Given the description of an element on the screen output the (x, y) to click on. 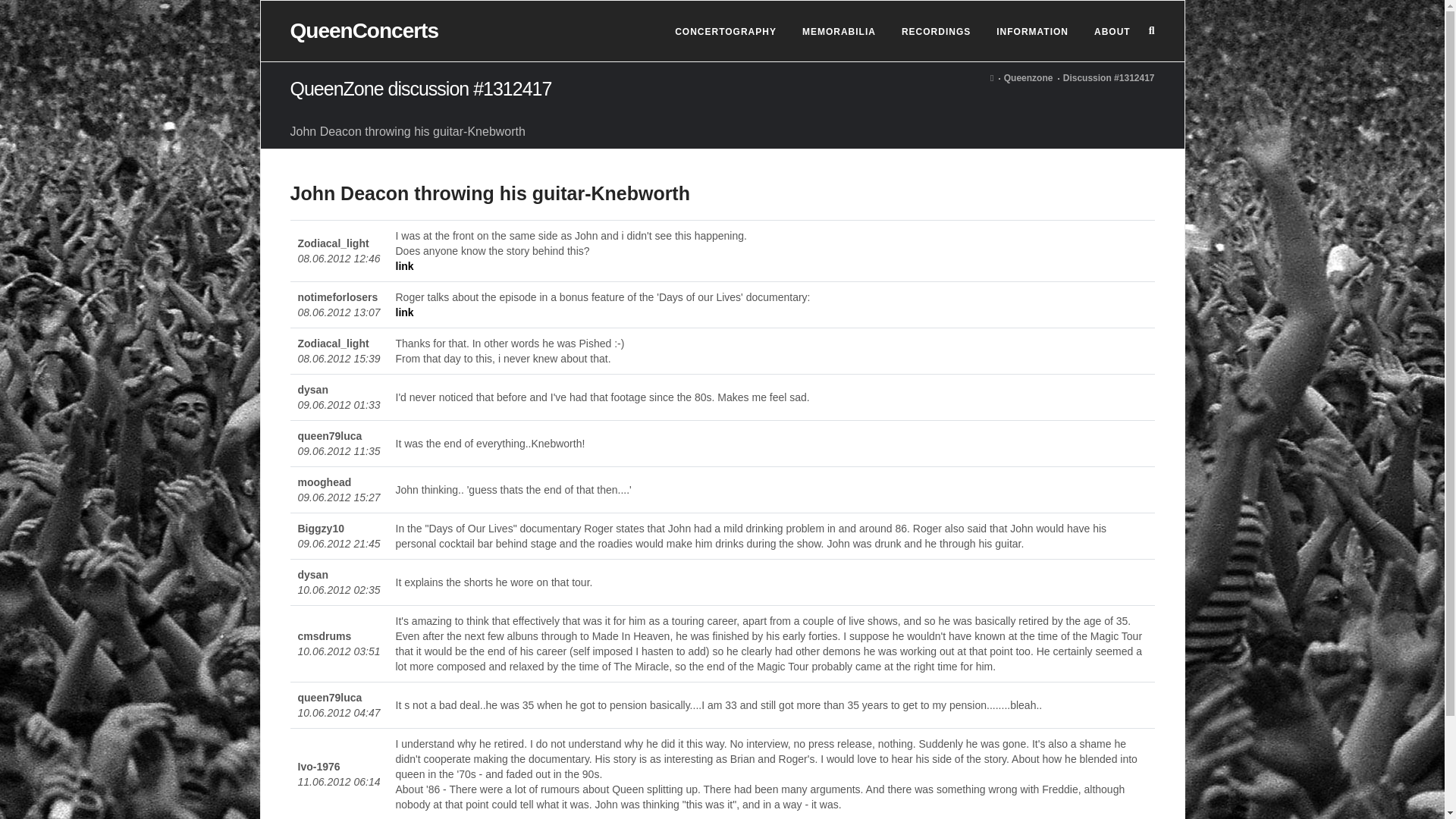
CONCERTOGRAPHY (725, 31)
RECORDINGS (936, 31)
MEMORABILIA (839, 31)
QueenConcerts (363, 30)
INFORMATION (1031, 31)
ABOUT (1112, 31)
Queenzone (1028, 77)
